Given the description of an element on the screen output the (x, y) to click on. 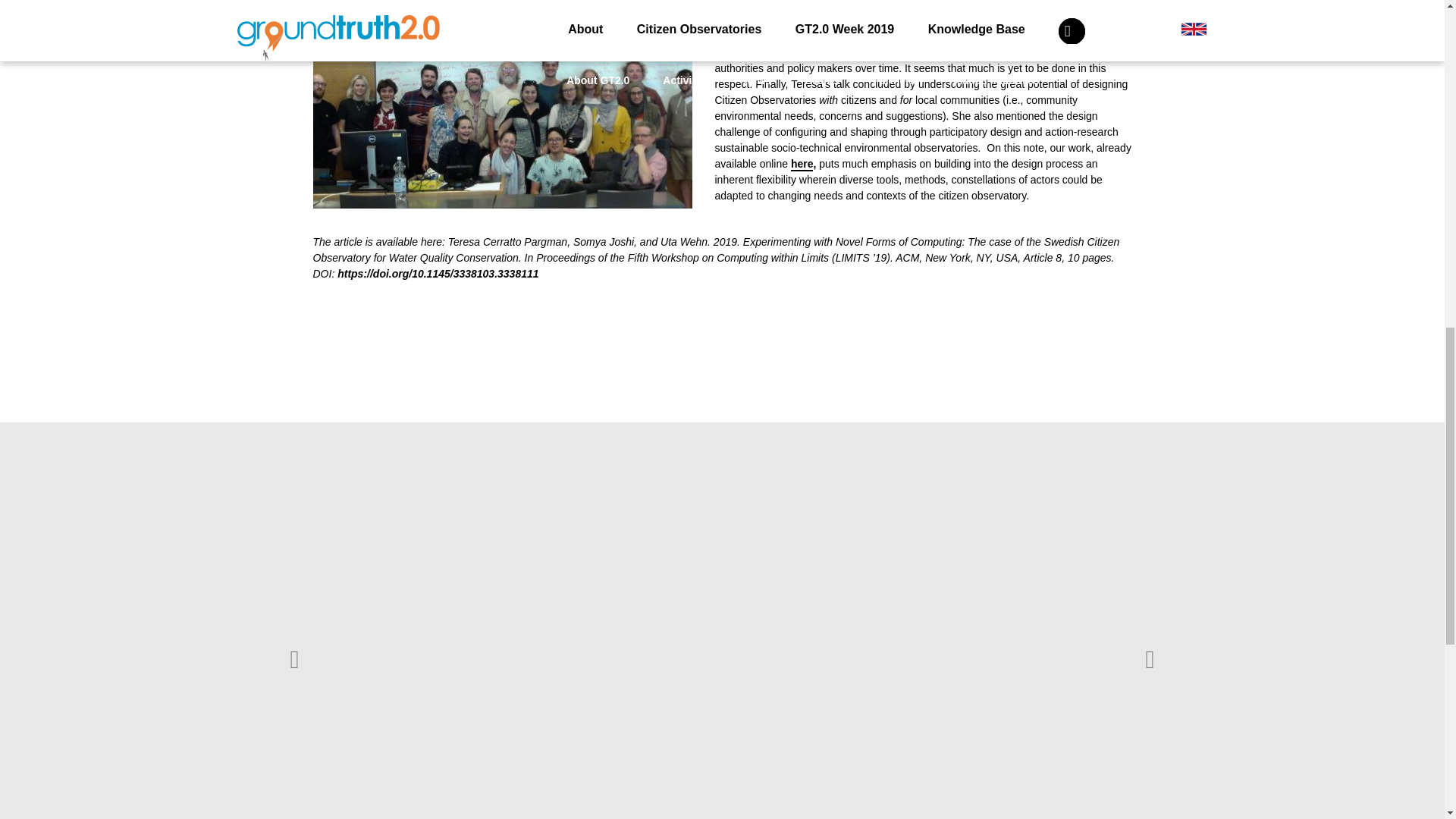
here (801, 164)
